Given the description of an element on the screen output the (x, y) to click on. 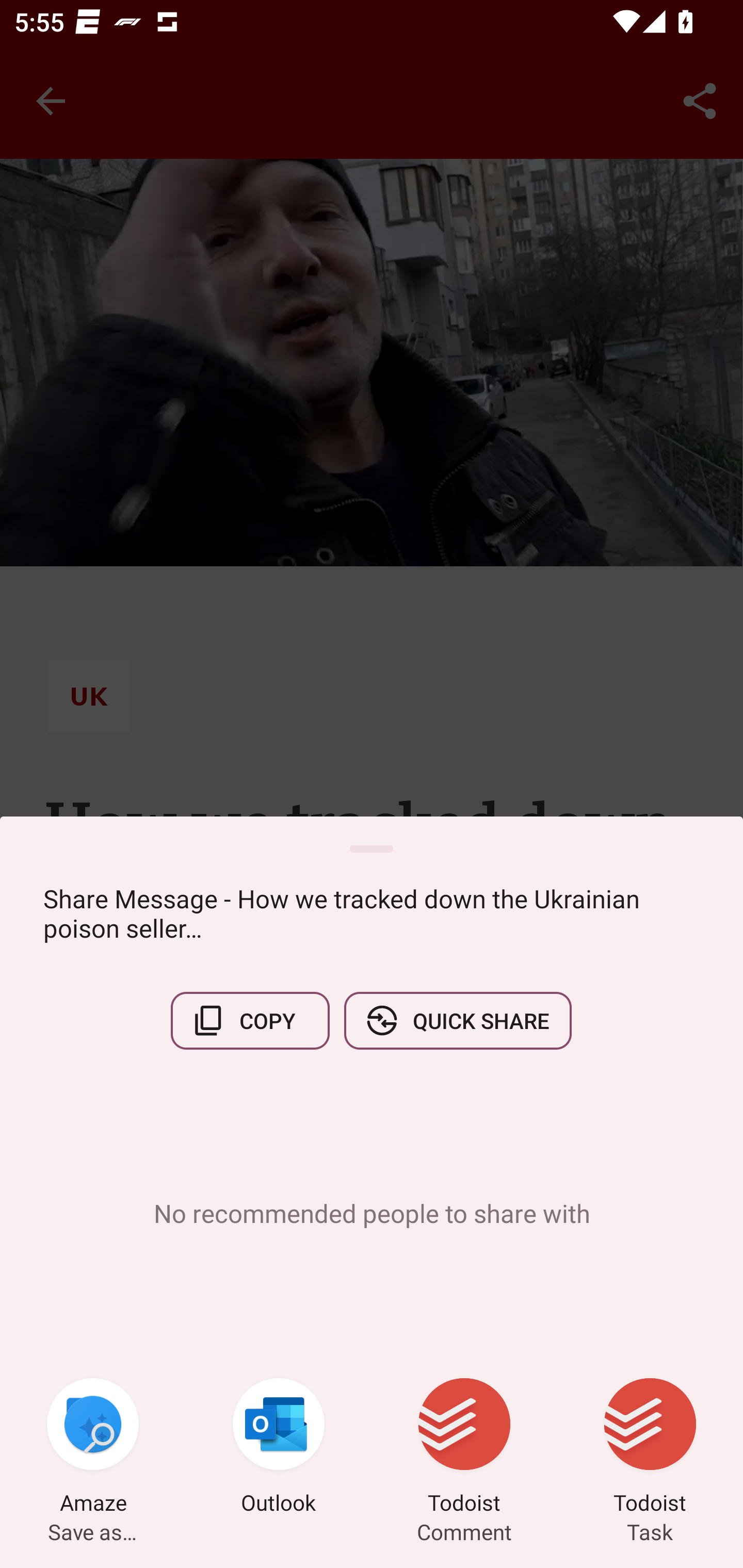
COPY (249, 1020)
QUICK SHARE (457, 1020)
Amaze Save as… (92, 1448)
Outlook (278, 1448)
Todoist Comment (464, 1448)
Todoist Task (650, 1448)
